Given the description of an element on the screen output the (x, y) to click on. 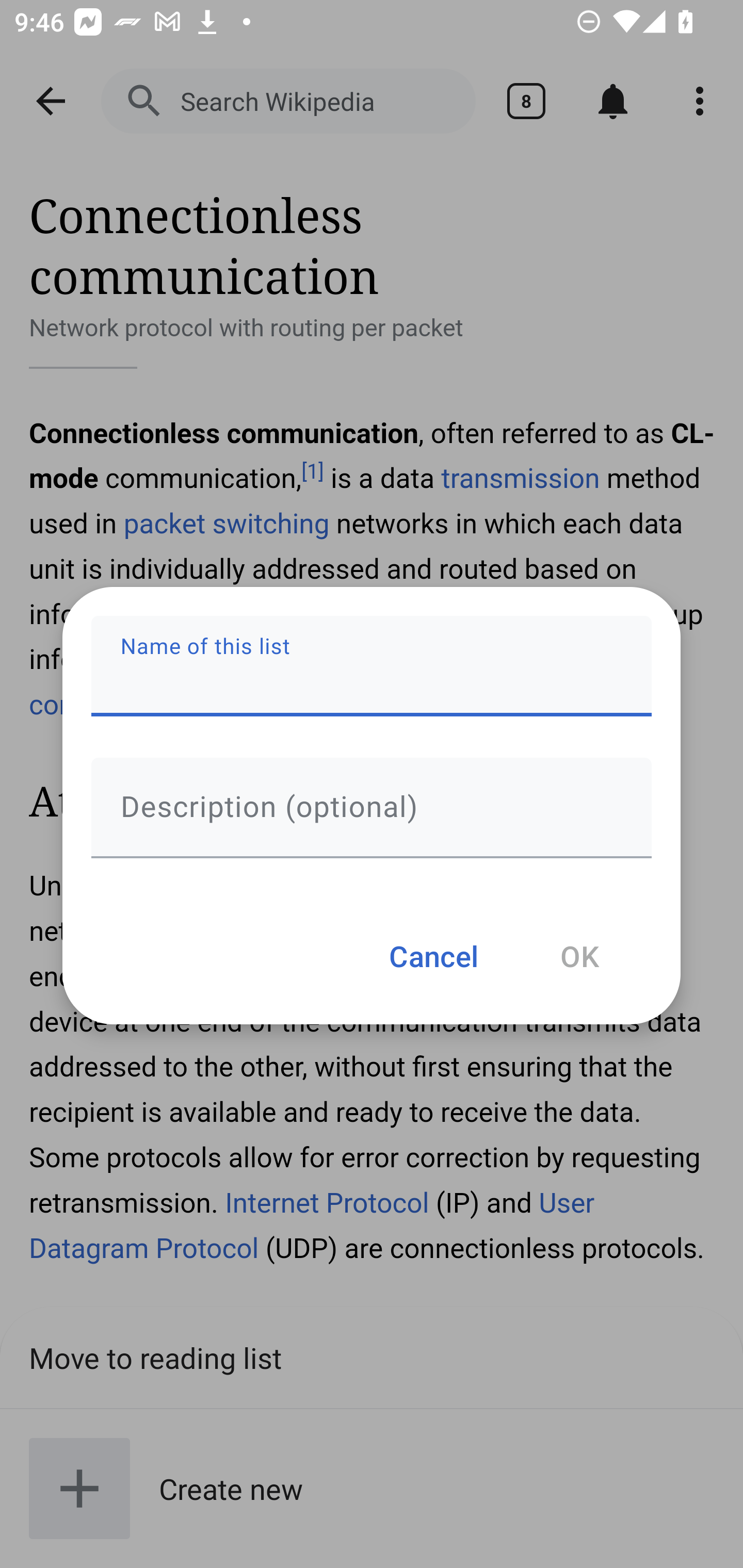
Name of this list (371, 666)
Description (optional) (371, 807)
Cancel (433, 955)
OK (579, 955)
